Given the description of an element on the screen output the (x, y) to click on. 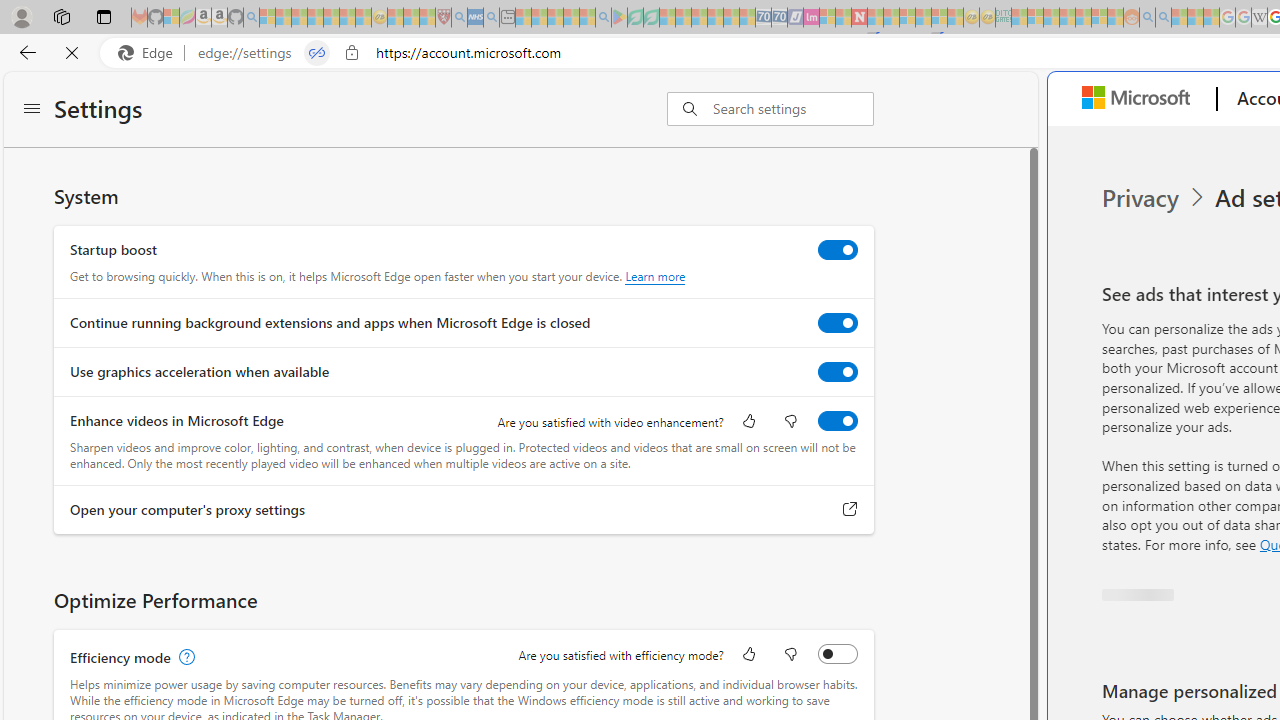
Kinda Frugal - MSN - Sleeping (1083, 17)
Efficiency mode, learn more (184, 657)
